Given the description of an element on the screen output the (x, y) to click on. 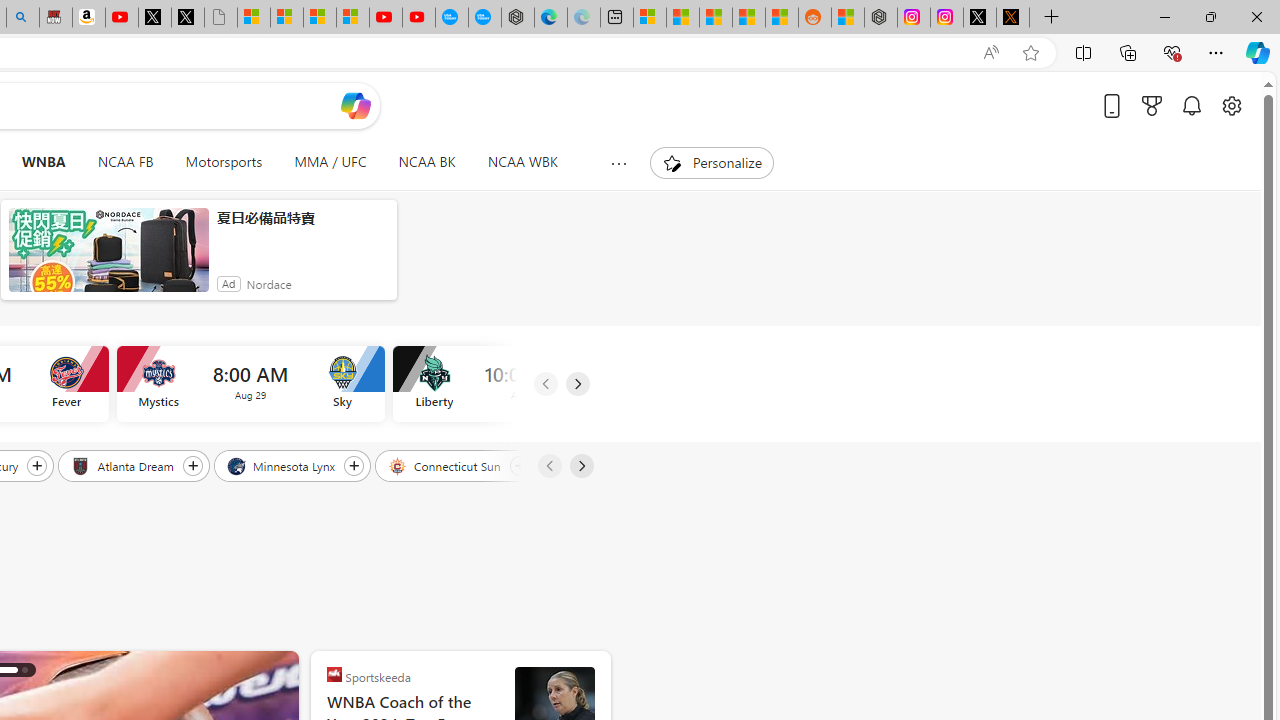
MMA / UFC (329, 162)
Previous (548, 465)
Nordace - Nordace has arrived Hong Kong (517, 17)
Show more topics (617, 163)
anim-content (107, 258)
Shanghai, China Weather trends | Microsoft Weather (781, 17)
NCAA WBK (522, 162)
Notifications (1192, 105)
